Given the description of an element on the screen output the (x, y) to click on. 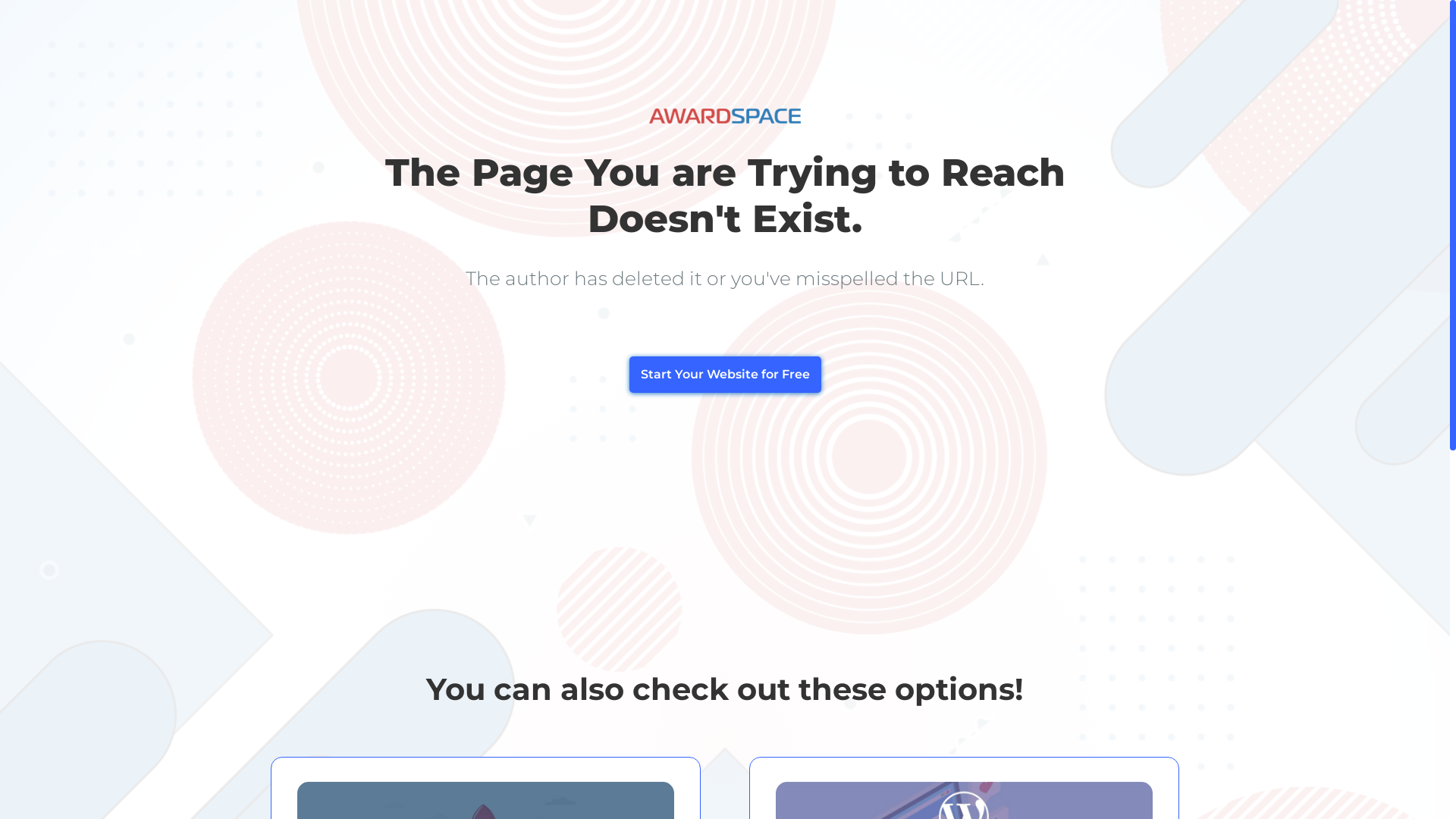
Start Your Website for Free Element type: text (725, 374)
